Given the description of an element on the screen output the (x, y) to click on. 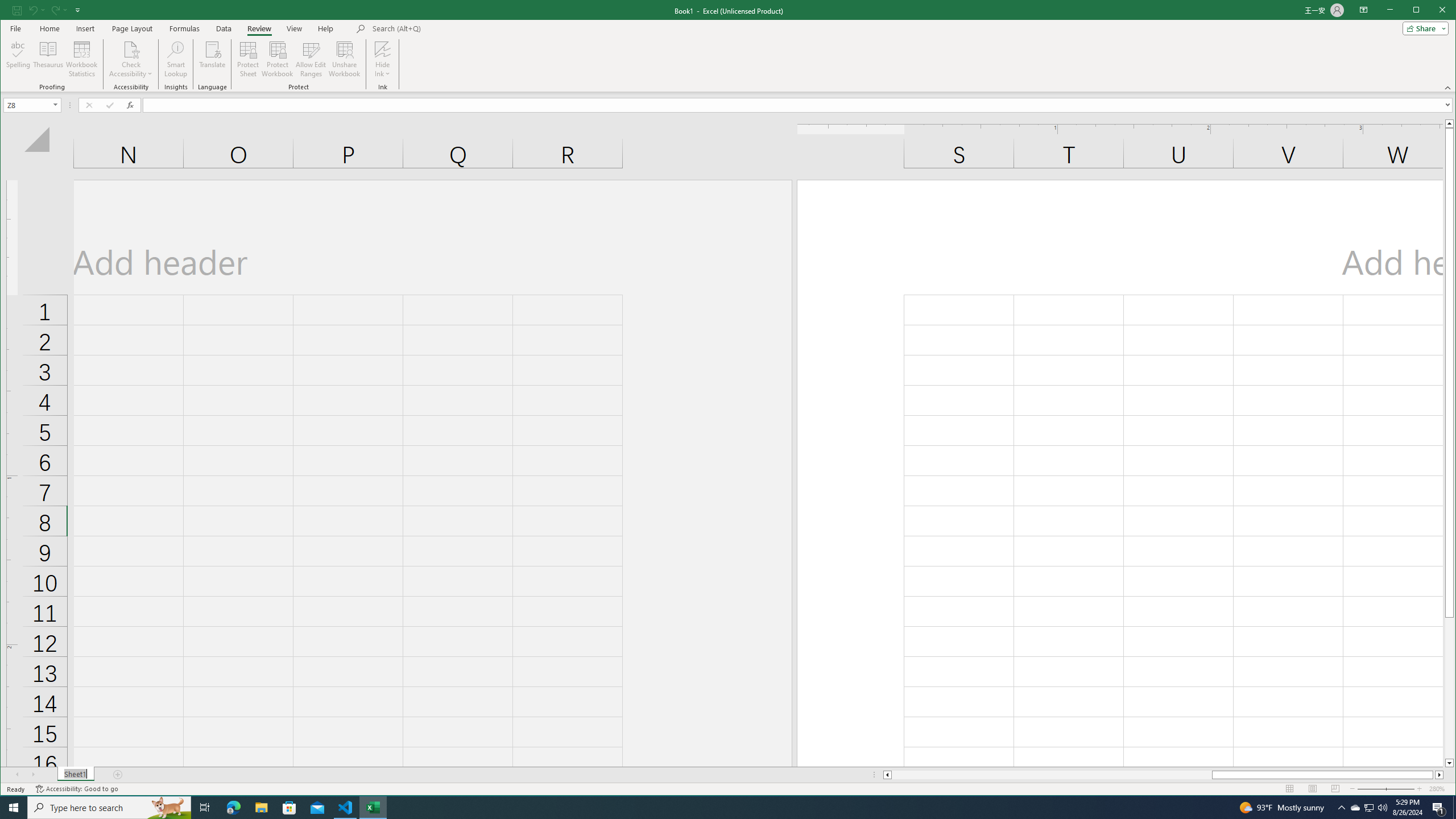
Spelling... (18, 59)
